Given the description of an element on the screen output the (x, y) to click on. 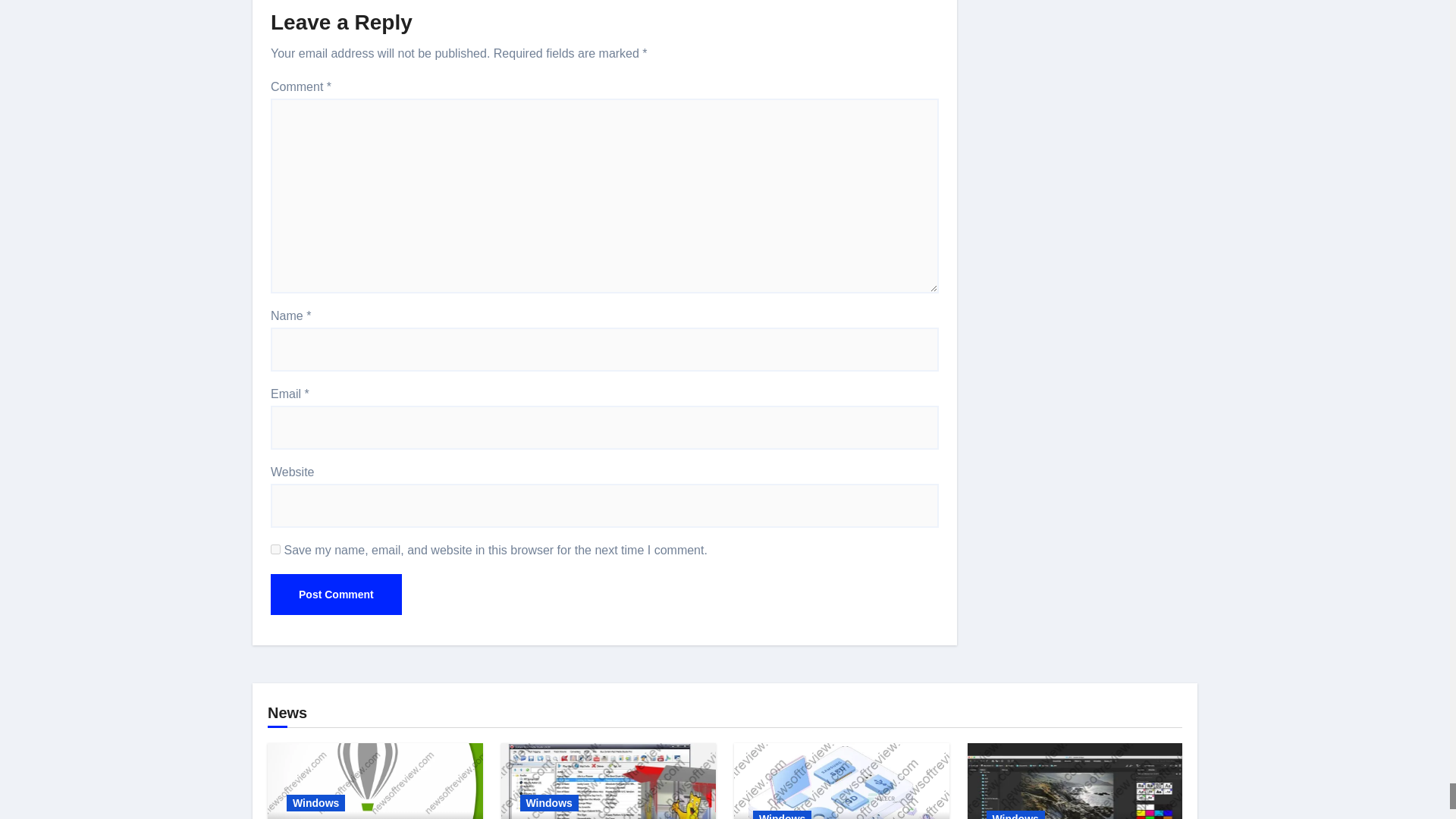
Post Comment (335, 594)
yes (275, 549)
